Given the description of an element on the screen output the (x, y) to click on. 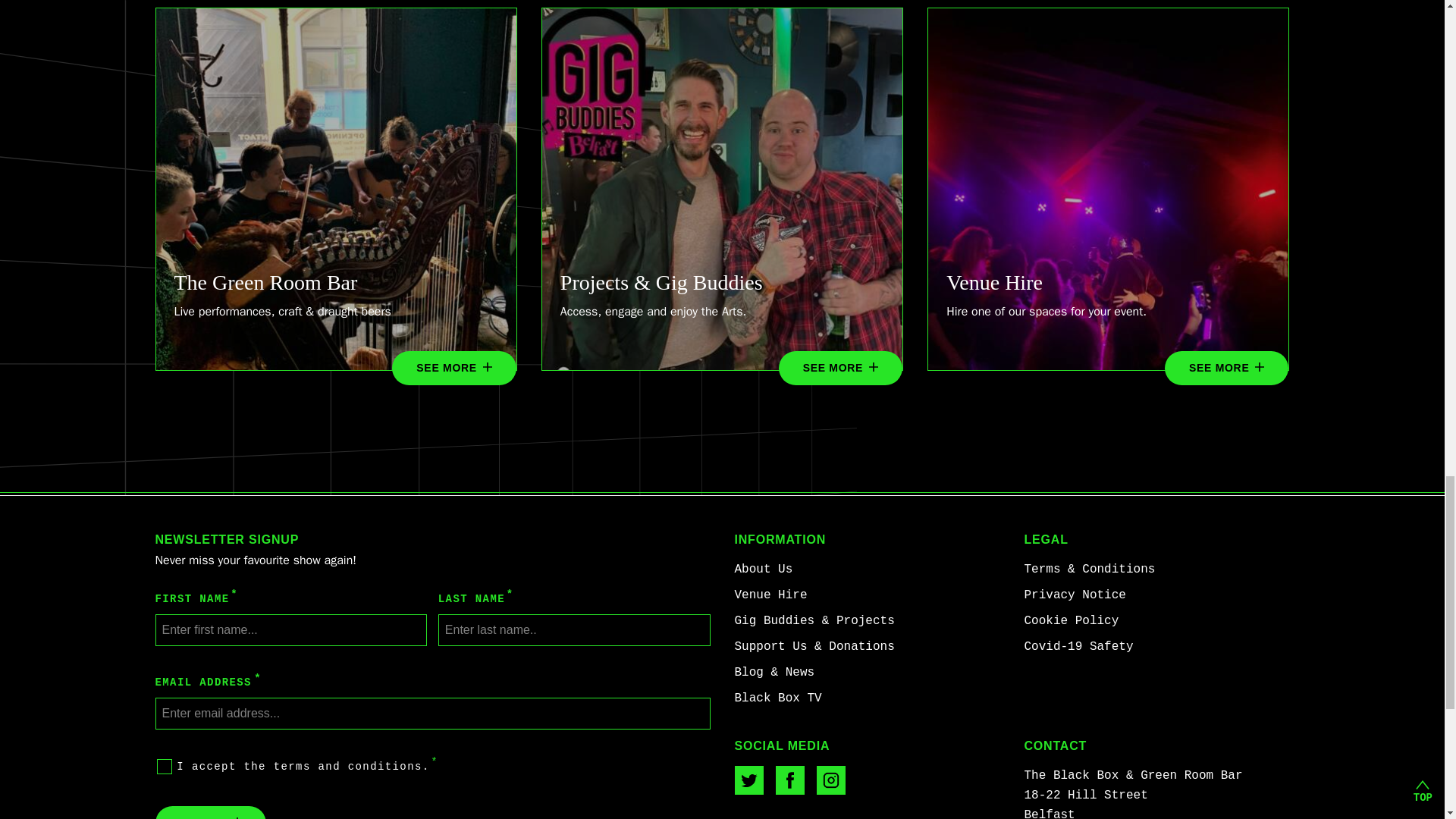
1 (164, 766)
